Given the description of an element on the screen output the (x, y) to click on. 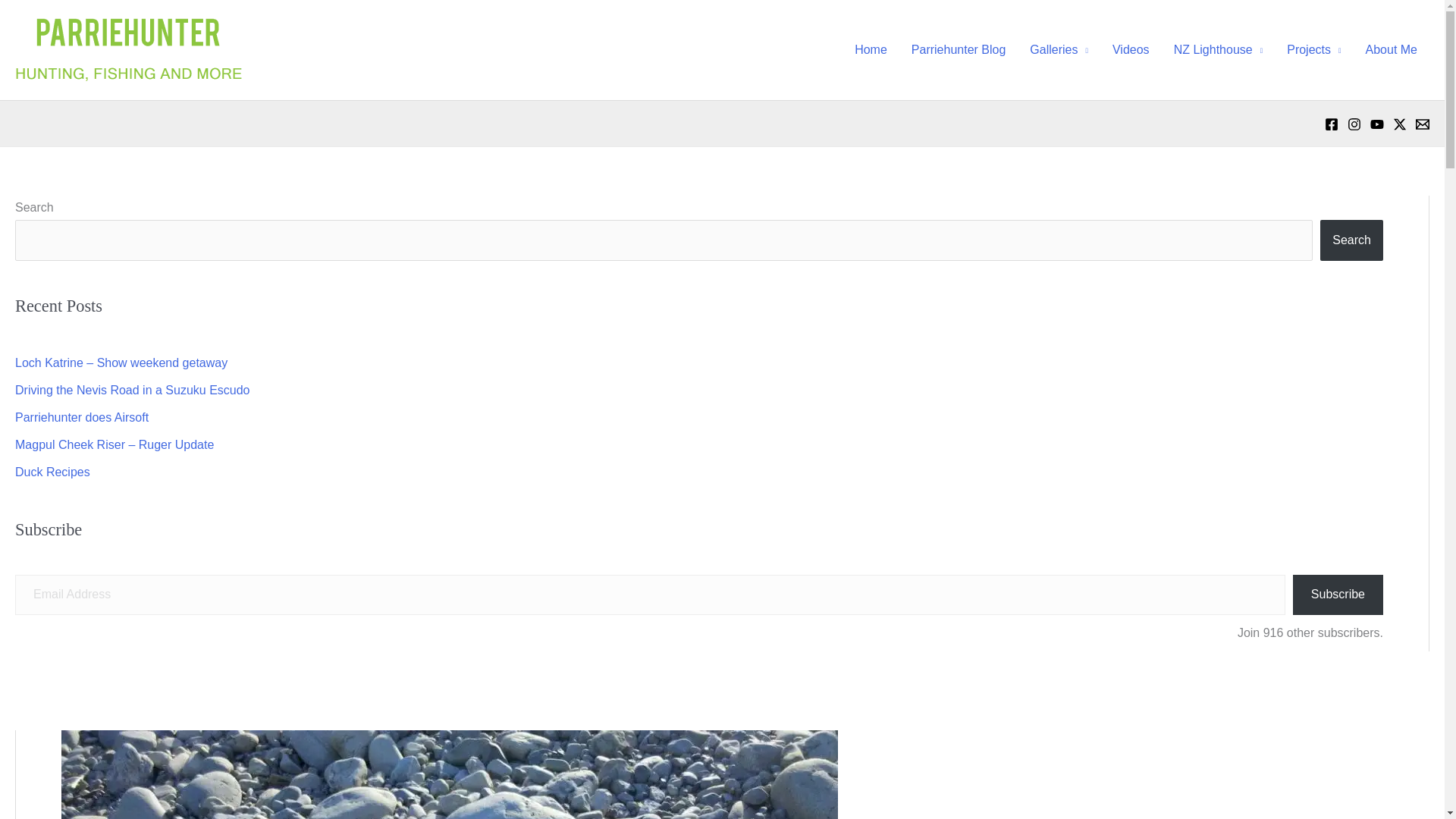
Parriehunter Blog (958, 49)
NZ Lighthouse (1218, 49)
Projects (1313, 49)
Galleries (1058, 49)
Please fill in this field. (649, 594)
Videos (1130, 49)
Home (871, 49)
